Given the description of an element on the screen output the (x, y) to click on. 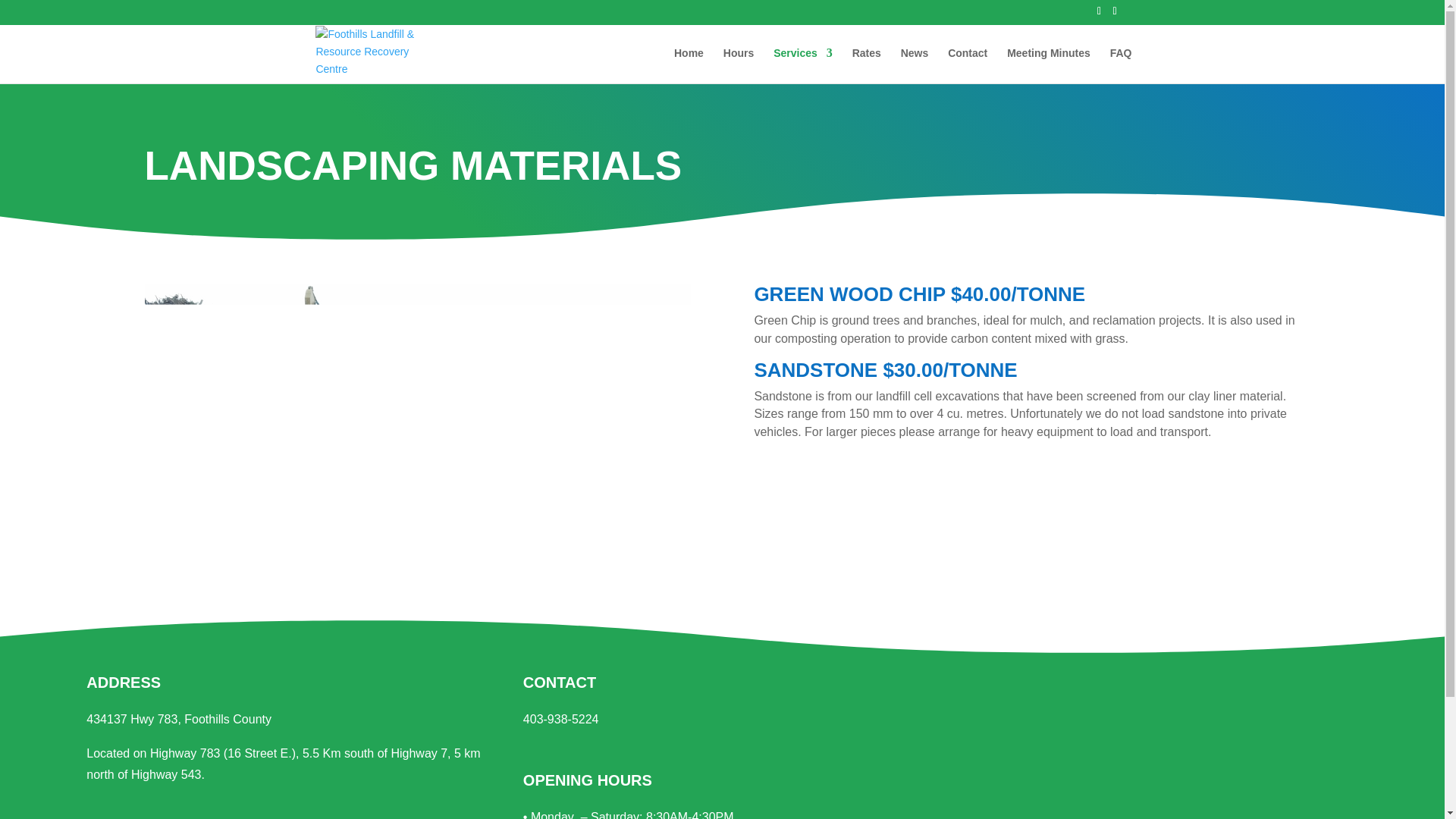
Meeting Minutes (1048, 65)
Contact (967, 65)
Services (802, 65)
